Given the description of an element on the screen output the (x, y) to click on. 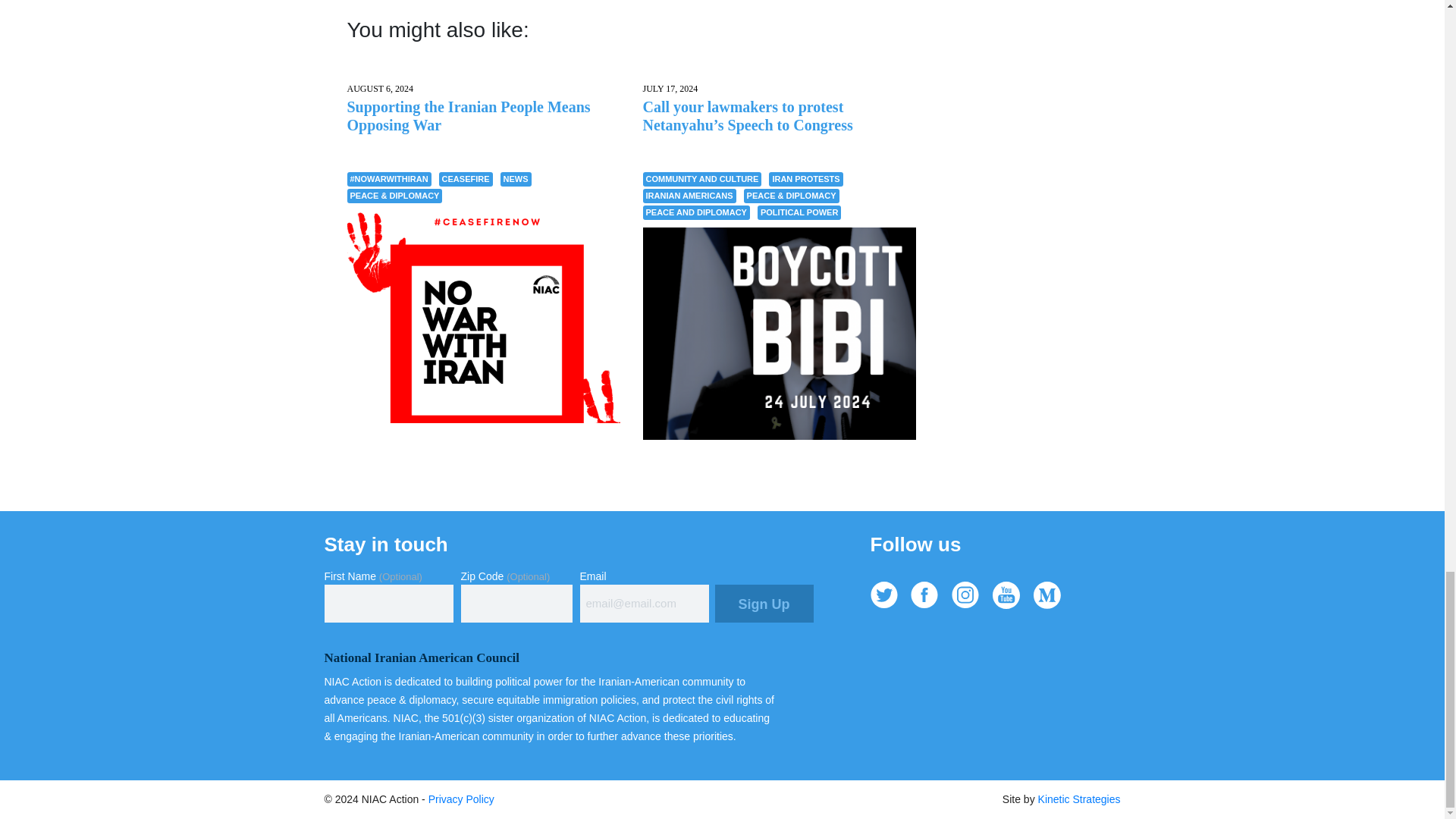
Sign Up (763, 603)
First Name (388, 603)
Zip Code (516, 603)
